Given the description of an element on the screen output the (x, y) to click on. 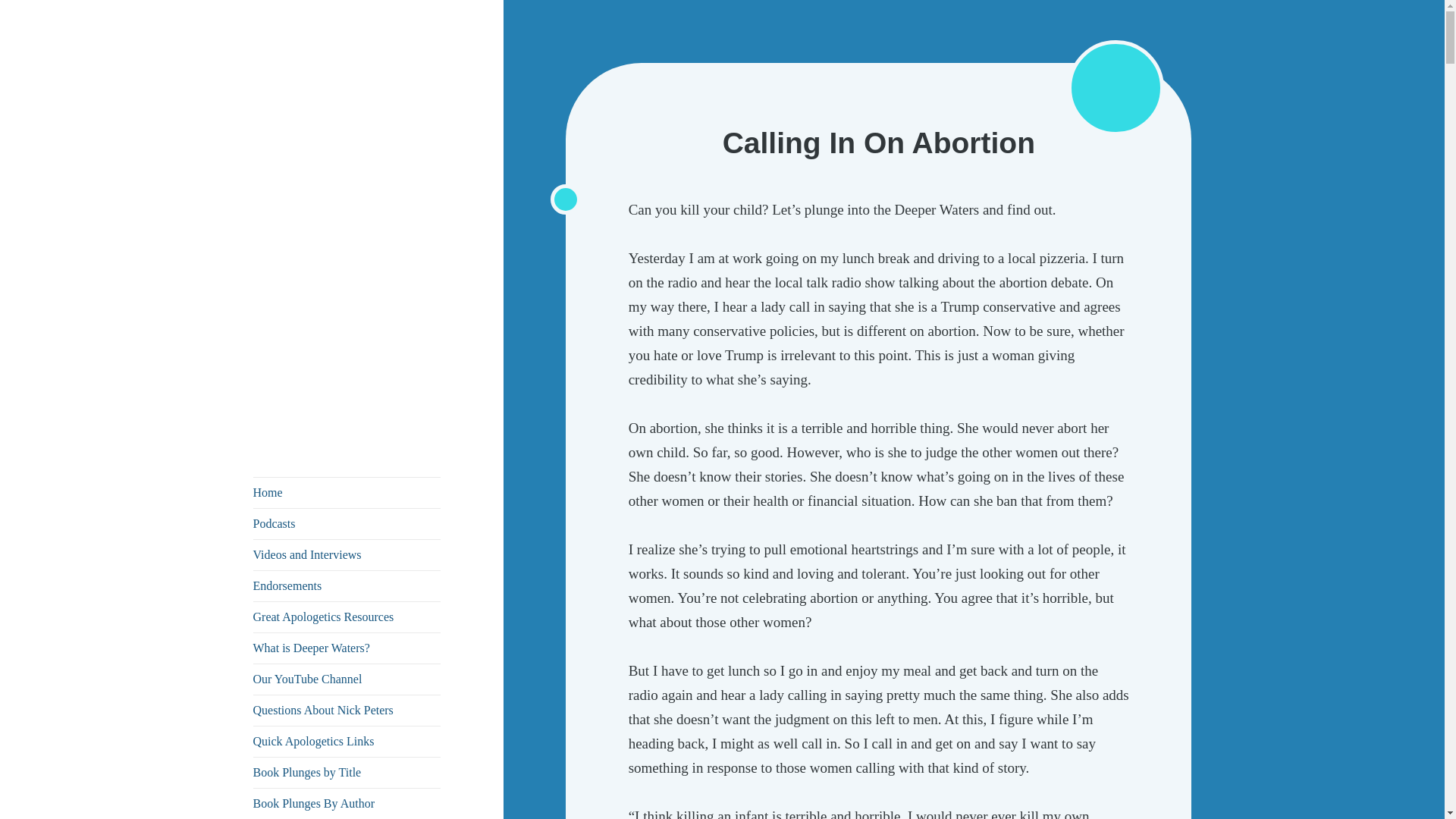
Our YouTube Channel (347, 679)
Videos and Interviews (347, 554)
What is Deeper Waters? (347, 648)
Great Apologetics Resources (347, 616)
Home (347, 492)
Quick Apologetics Links (347, 741)
Podcasts (347, 523)
Endorsements (347, 585)
Questions About Nick Peters (347, 710)
Book Plunges By Author (347, 803)
Book Plunges by Title (347, 772)
